Given the description of an element on the screen output the (x, y) to click on. 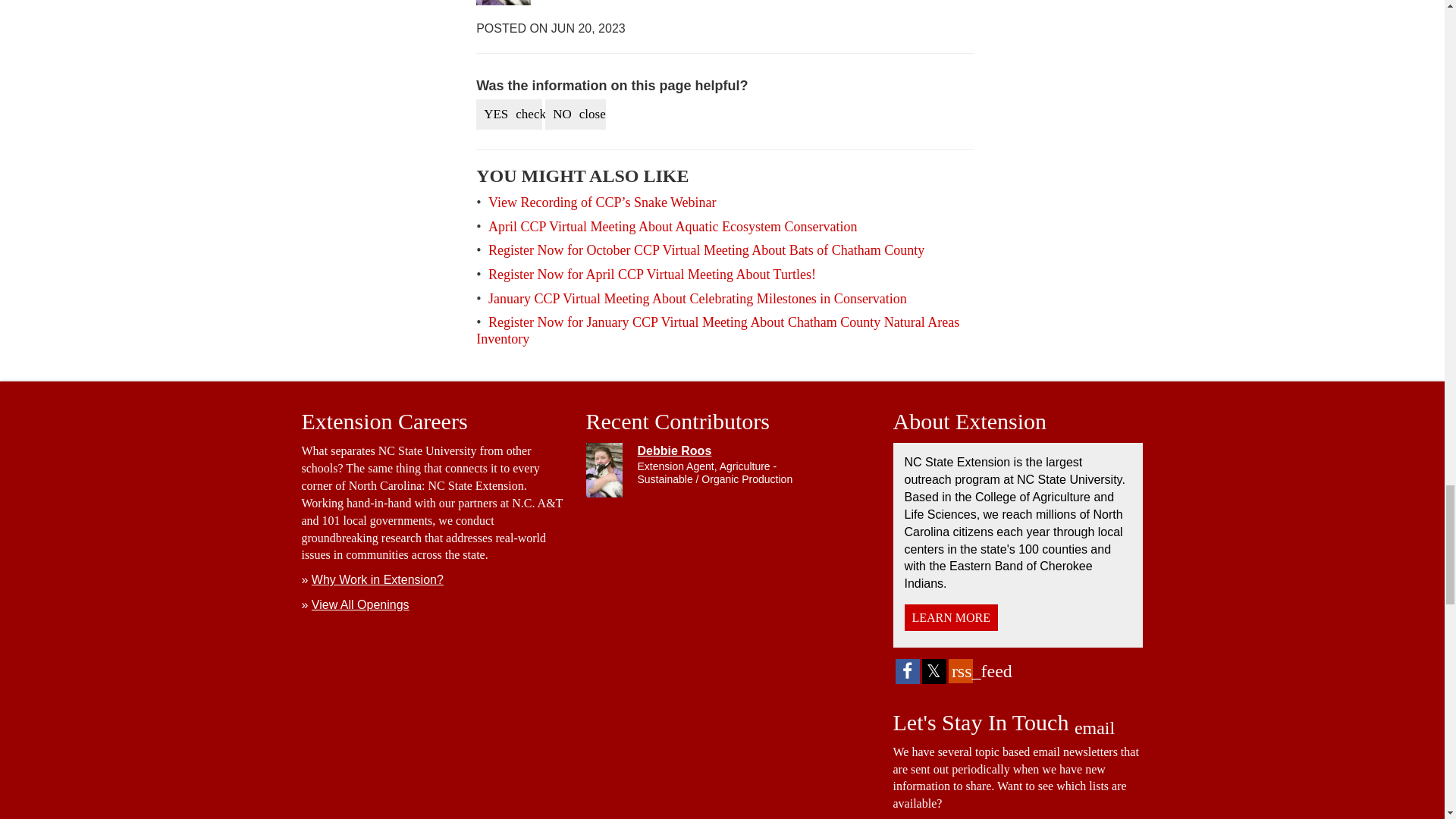
Subscribe by RSS Feed (960, 670)
